Given the description of an element on the screen output the (x, y) to click on. 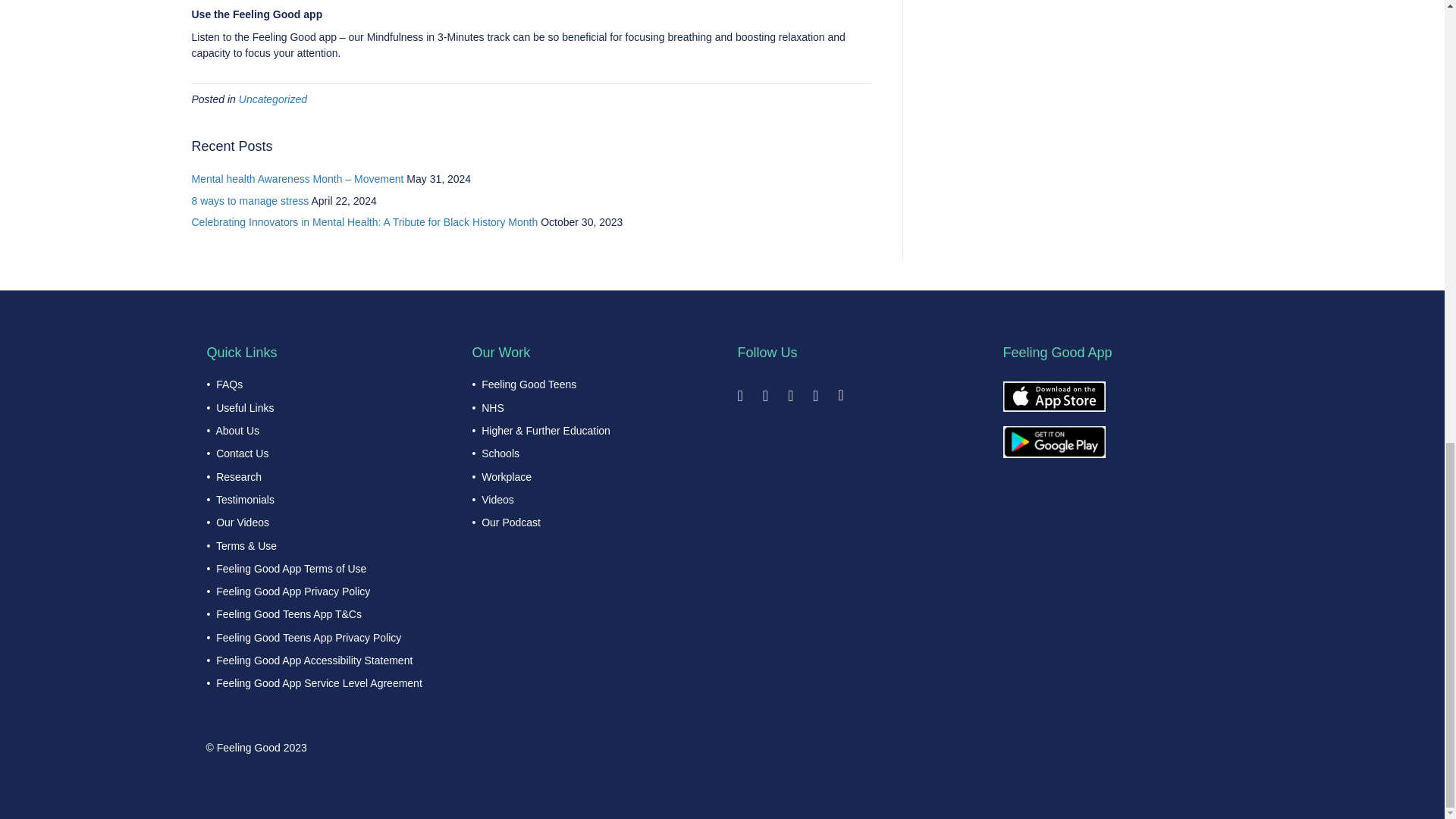
Feeling Good App Privacy Policy (292, 591)
8 ways to manage stress (249, 200)
appstore (1054, 396)
Feeling Good Teens App Privacy Policy (308, 637)
Feeling Good App Accessibility Statement (313, 660)
google-play-badge1 (1054, 441)
Uncategorized (272, 99)
Feeling Good App Terms of Use (290, 568)
